Given the description of an element on the screen output the (x, y) to click on. 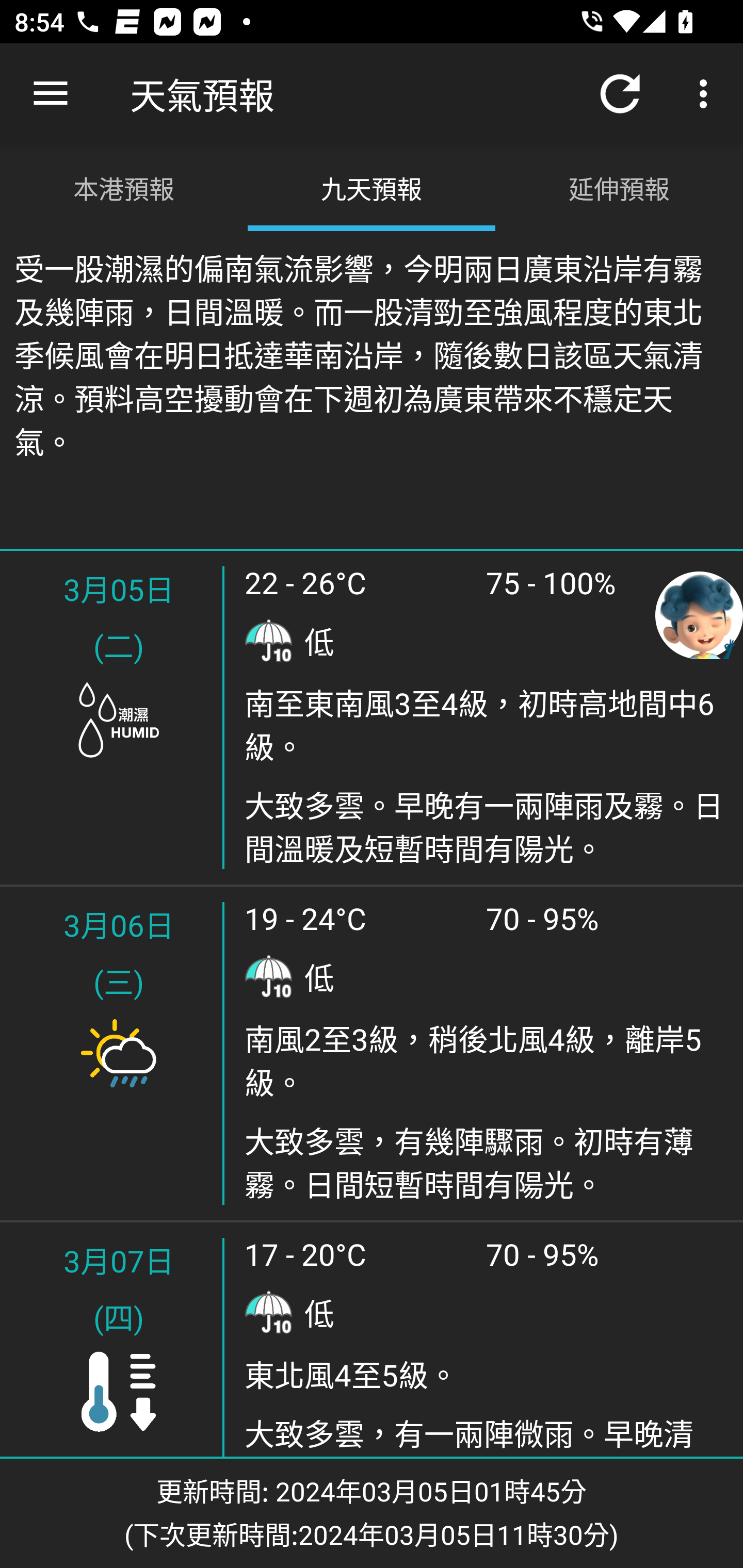
向上瀏覽 (50, 93)
重新整理 (619, 93)
更多選項 (706, 93)
本港預報 (123, 187)
延伸預報 (619, 187)
聊天機械人 (699, 614)
